Given the description of an element on the screen output the (x, y) to click on. 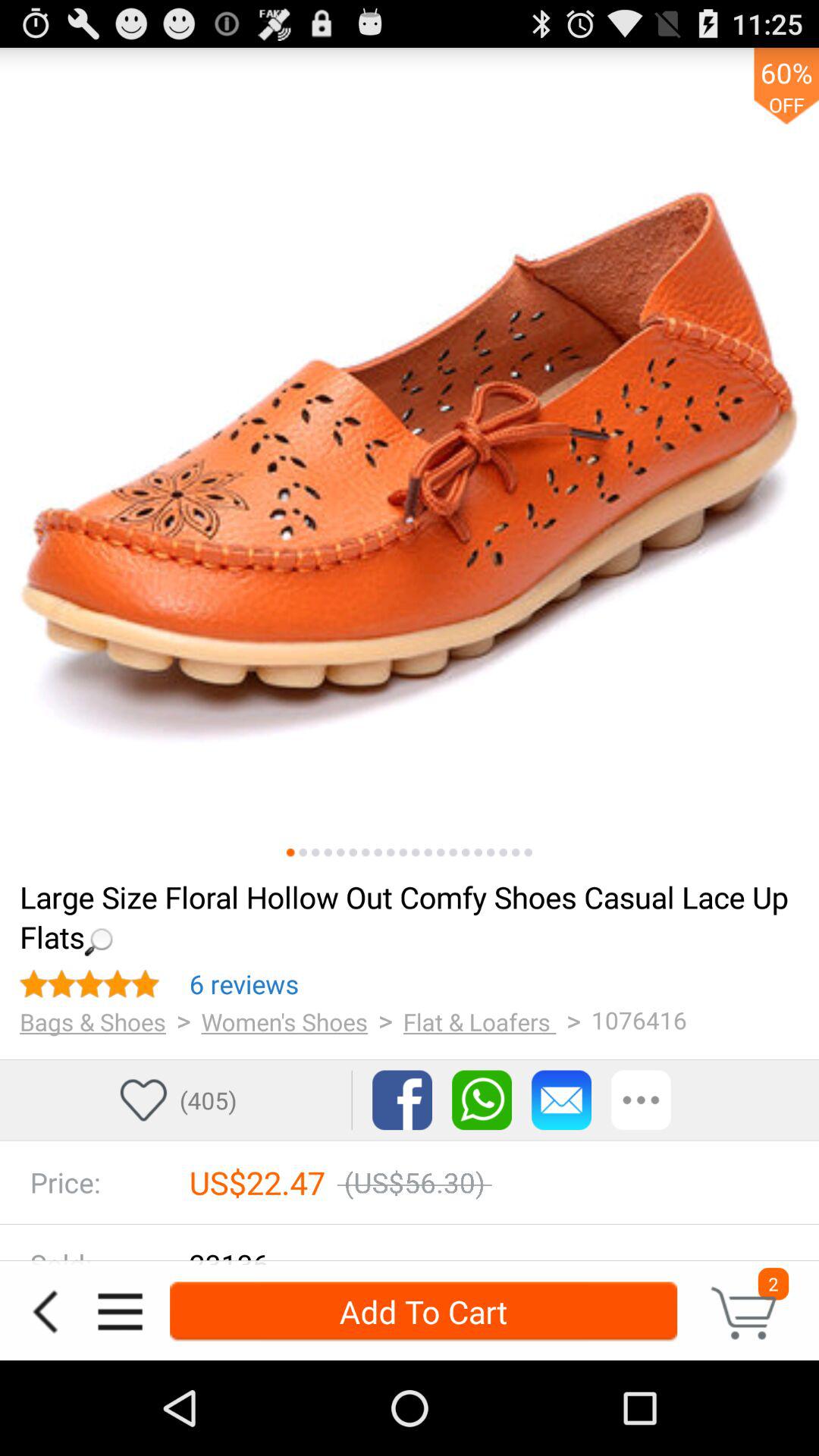
launch the women's shoes (284, 1021)
